Given the description of an element on the screen output the (x, y) to click on. 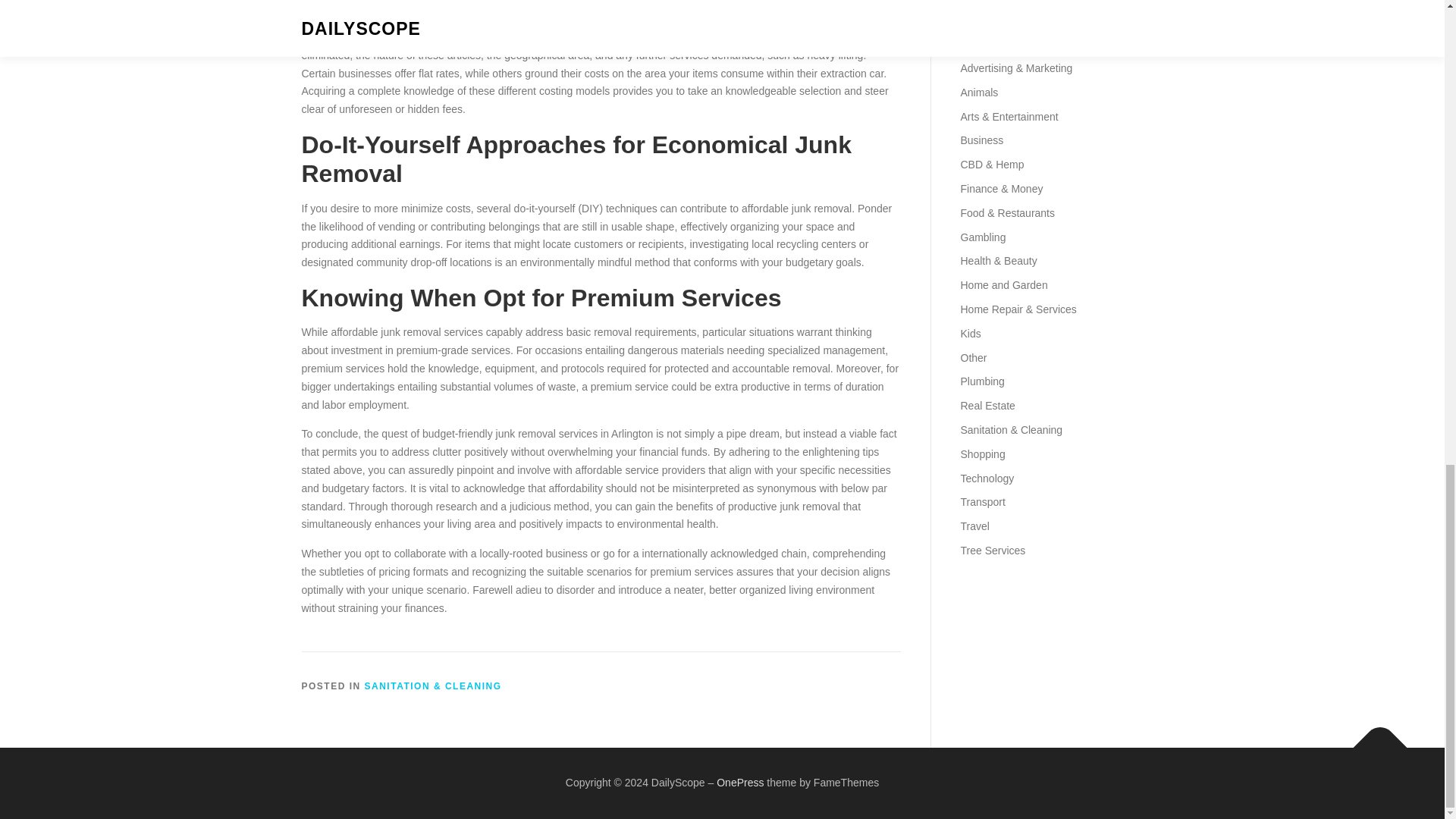
Business (981, 140)
Back To Top (1372, 739)
Animals (978, 92)
Adult (971, 43)
